Given the description of an element on the screen output the (x, y) to click on. 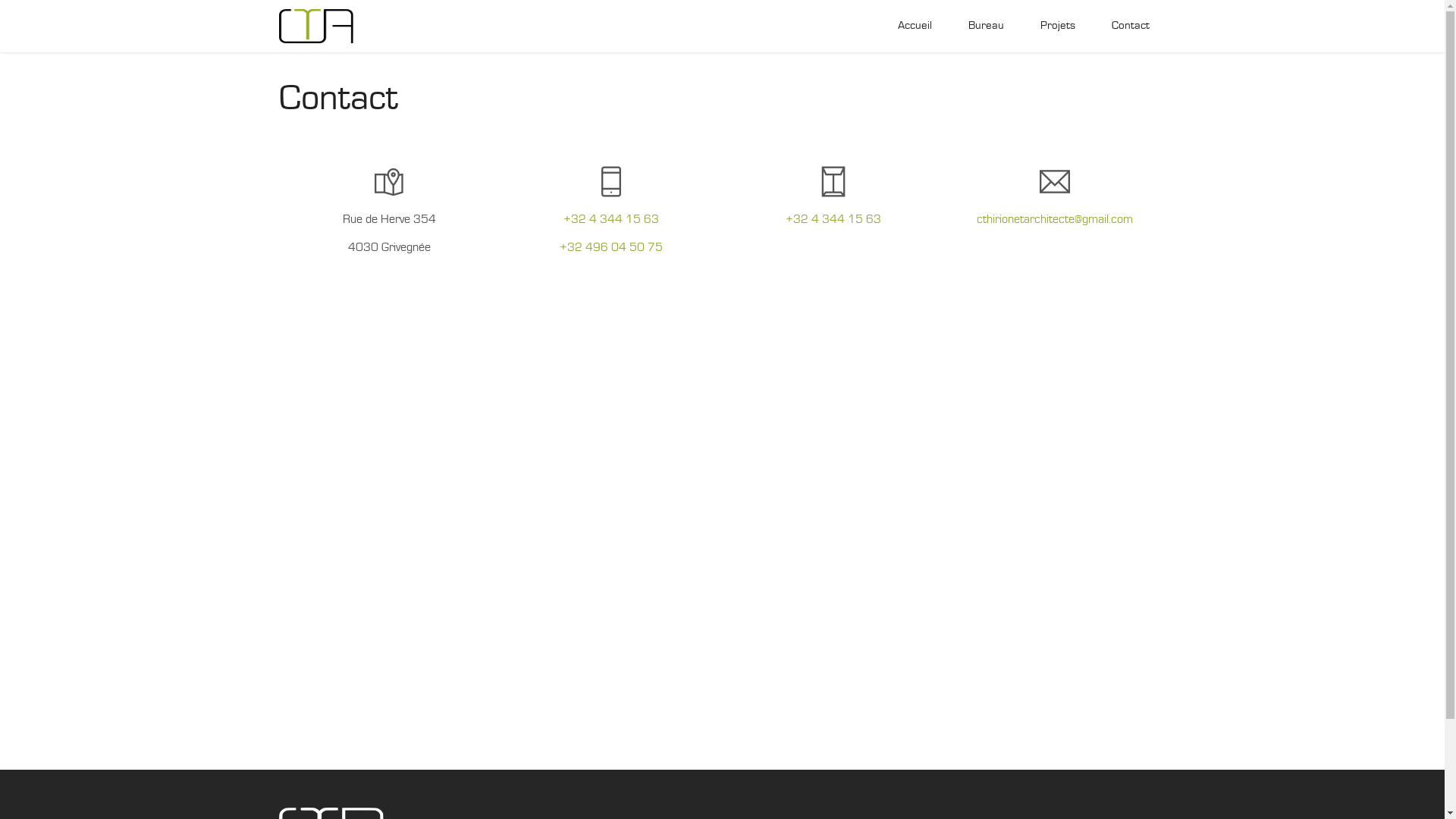
+32 4 344 15 63 Element type: text (610, 219)
cthirionetarchitecte@gmail.com Element type: text (1054, 219)
+32 4 344 15 63 Element type: text (833, 219)
+32 496 04 50 75 Element type: text (610, 247)
Bureau Element type: text (984, 26)
Contact Element type: text (1130, 26)
Accueil Element type: text (914, 26)
Projets Element type: text (1057, 26)
